Given the description of an element on the screen output the (x, y) to click on. 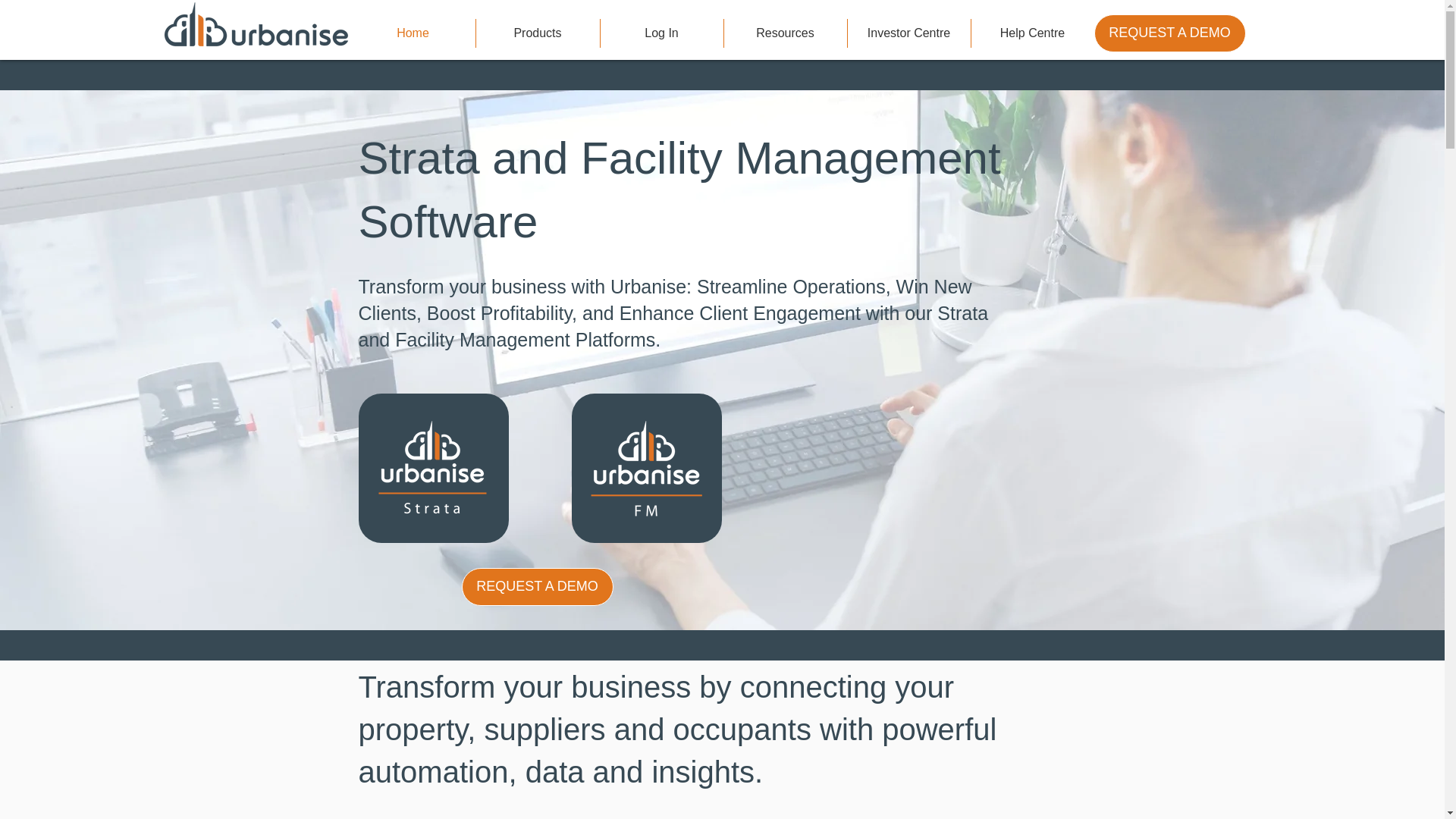
Help Centre (1032, 32)
REQUEST A DEMO (536, 587)
REQUEST A DEMO (1168, 33)
Investor Centre (909, 32)
Home (412, 32)
